Given the description of an element on the screen output the (x, y) to click on. 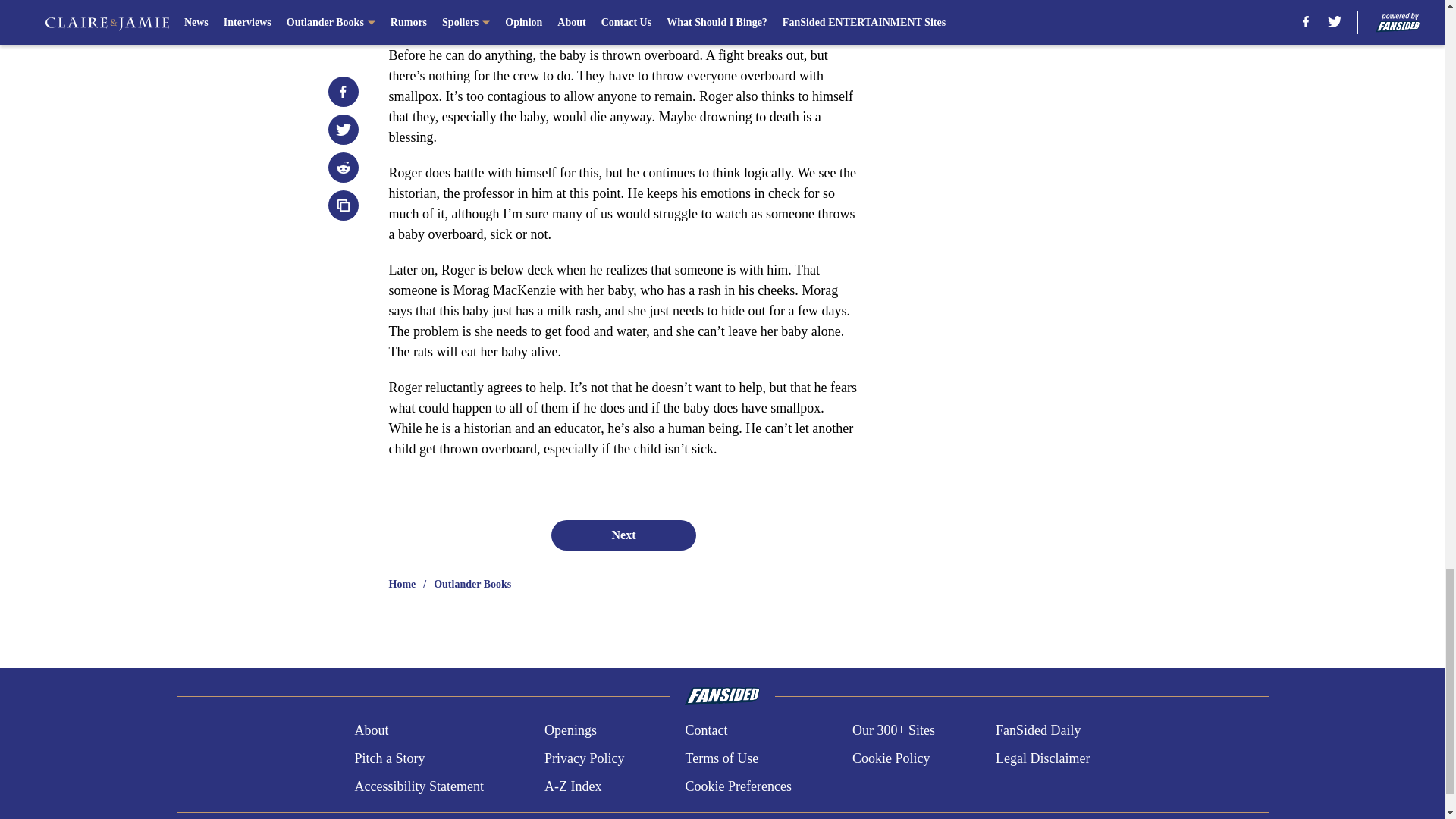
FanSided Daily (1038, 730)
About (370, 730)
Cookie Policy (890, 758)
Contact (705, 730)
Openings (570, 730)
Legal Disclaimer (1042, 758)
Outlander Books (472, 584)
Pitch a Story (389, 758)
Terms of Use (721, 758)
Privacy Policy (584, 758)
